Given the description of an element on the screen output the (x, y) to click on. 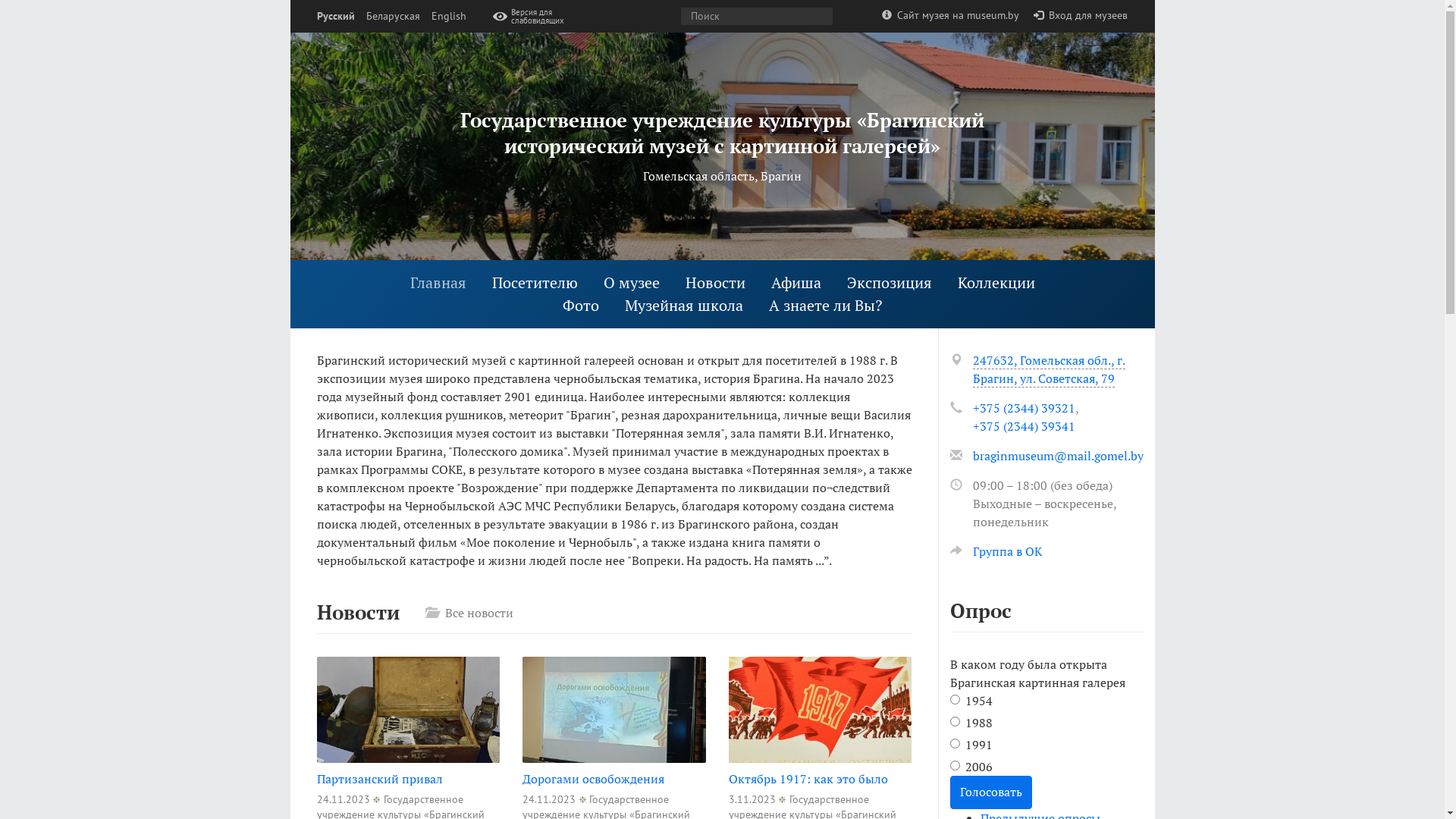
+375 (2344) 39341 Element type: text (1023, 426)
braginmuseum@mail.gomel.by Element type: text (1057, 455)
English Element type: text (447, 16)
+375 (2344) 39321 Element type: text (1023, 407)
